Given the description of an element on the screen output the (x, y) to click on. 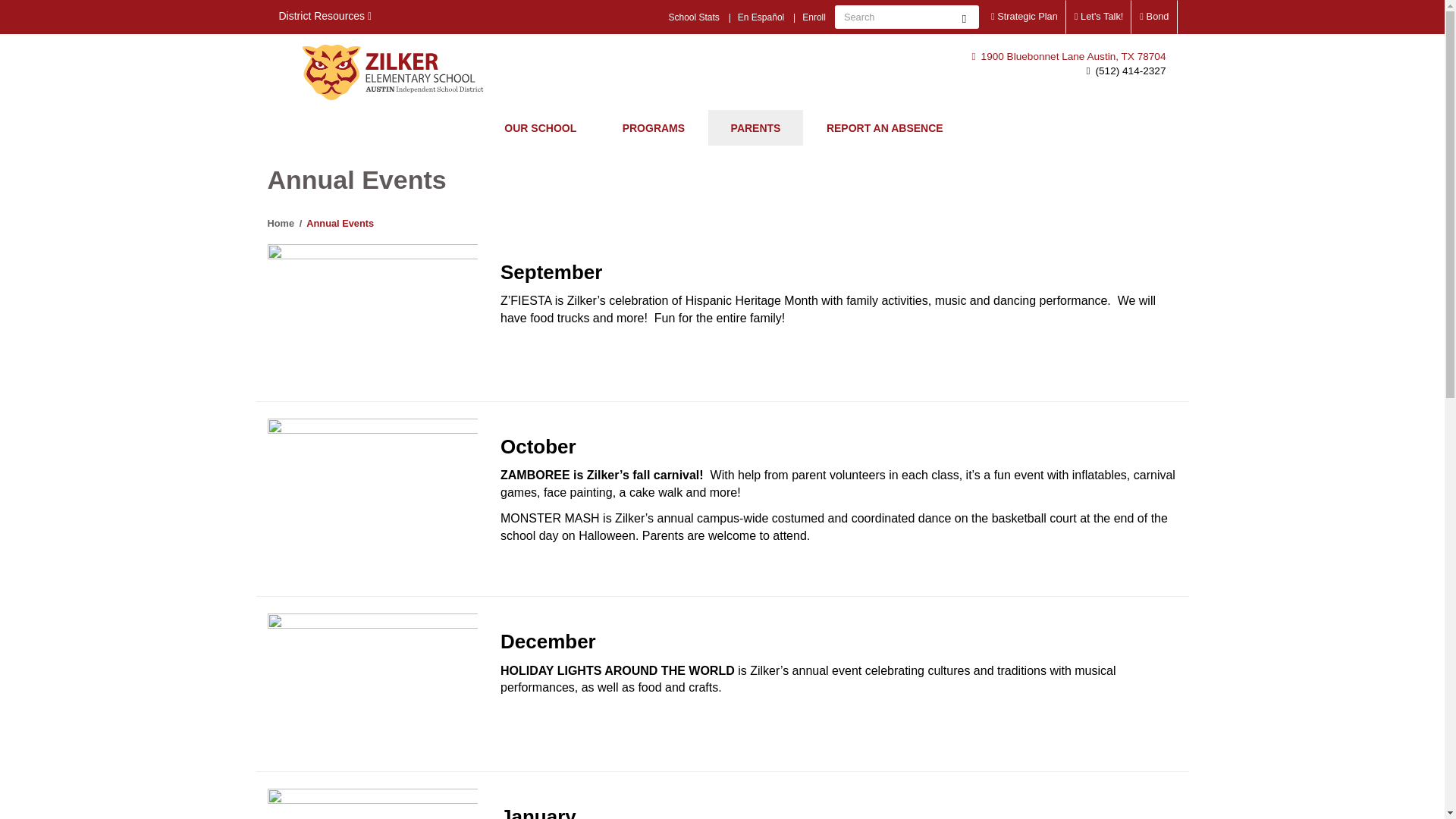
District Resources (324, 17)
Search (963, 16)
OUR SCHOOL (539, 127)
Enroll (813, 17)
School Stats (693, 17)
Home (393, 72)
Andrew J. Zilker Elementary School (393, 72)
  1900 Bluebonnet Lane Austin, TX 78704 (1068, 56)
PROGRAMS (653, 127)
